Given the description of an element on the screen output the (x, y) to click on. 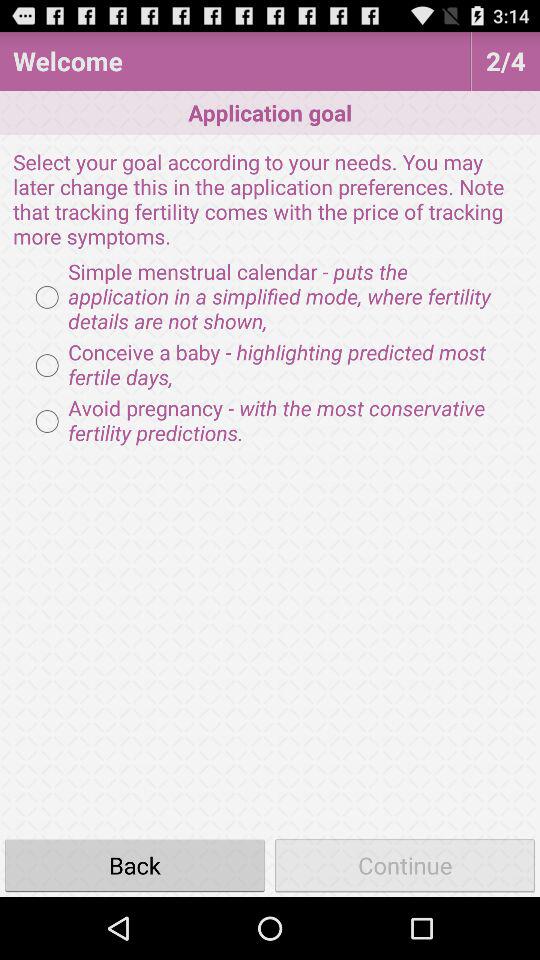
choose simple menstrual calendar (269, 297)
